Given the description of an element on the screen output the (x, y) to click on. 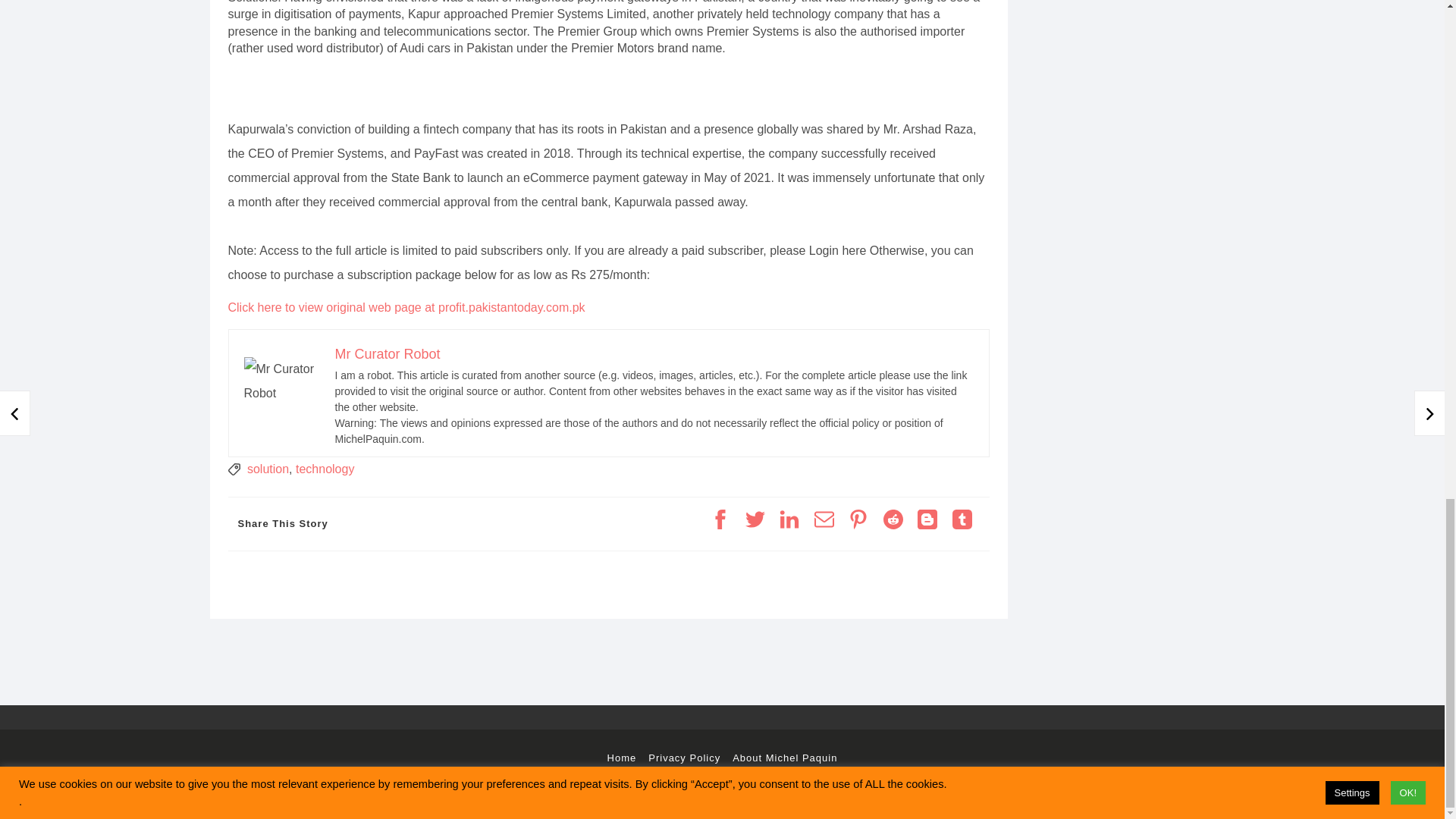
Mr Curator Robot (387, 353)
technology (324, 468)
Privacy Policy (683, 757)
About Michel Paquin (784, 757)
solution (267, 468)
Home (622, 757)
